Given the description of an element on the screen output the (x, y) to click on. 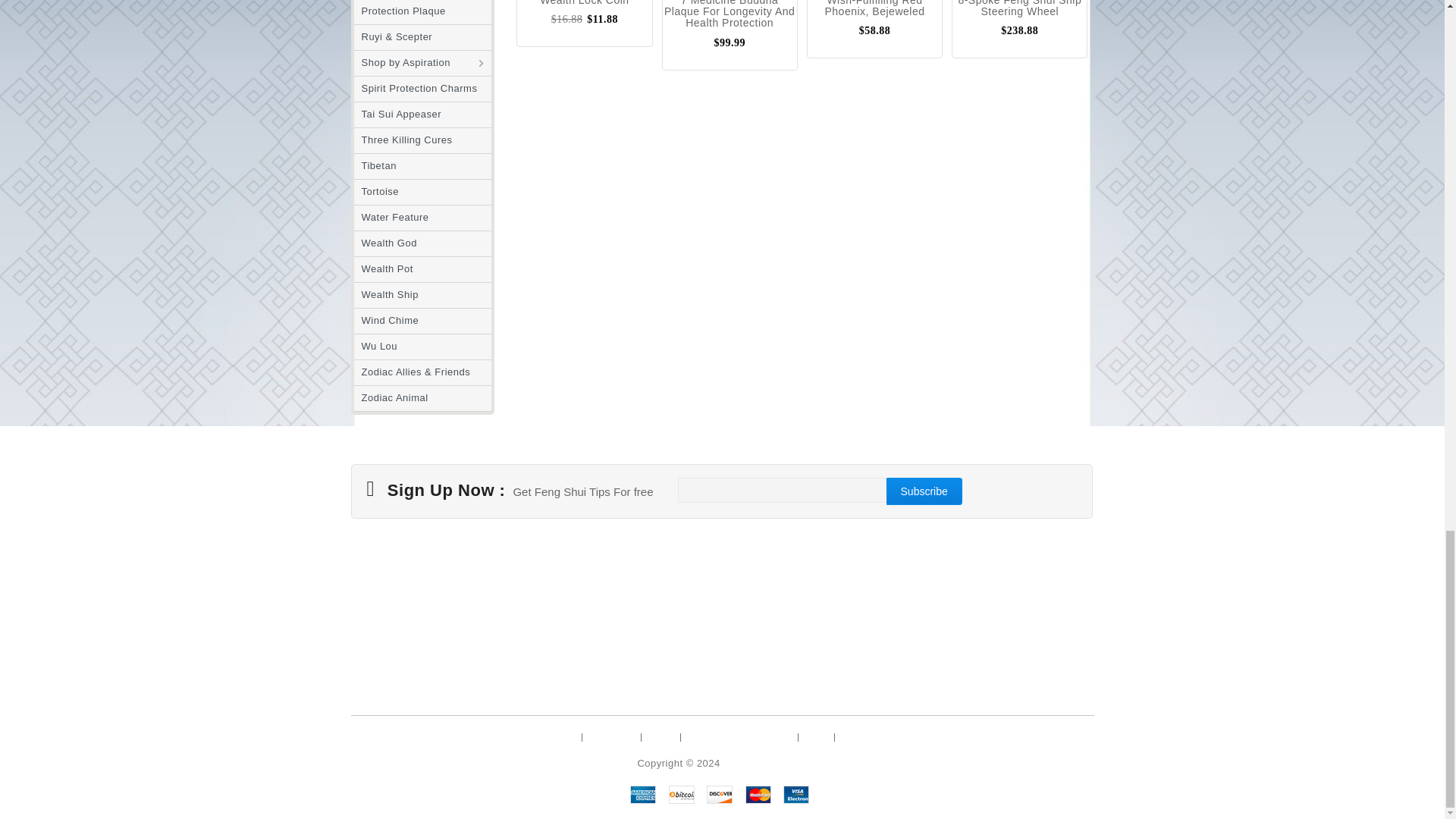
Subscribe (924, 491)
Buy-FengShui.com (765, 763)
